Given the description of an element on the screen output the (x, y) to click on. 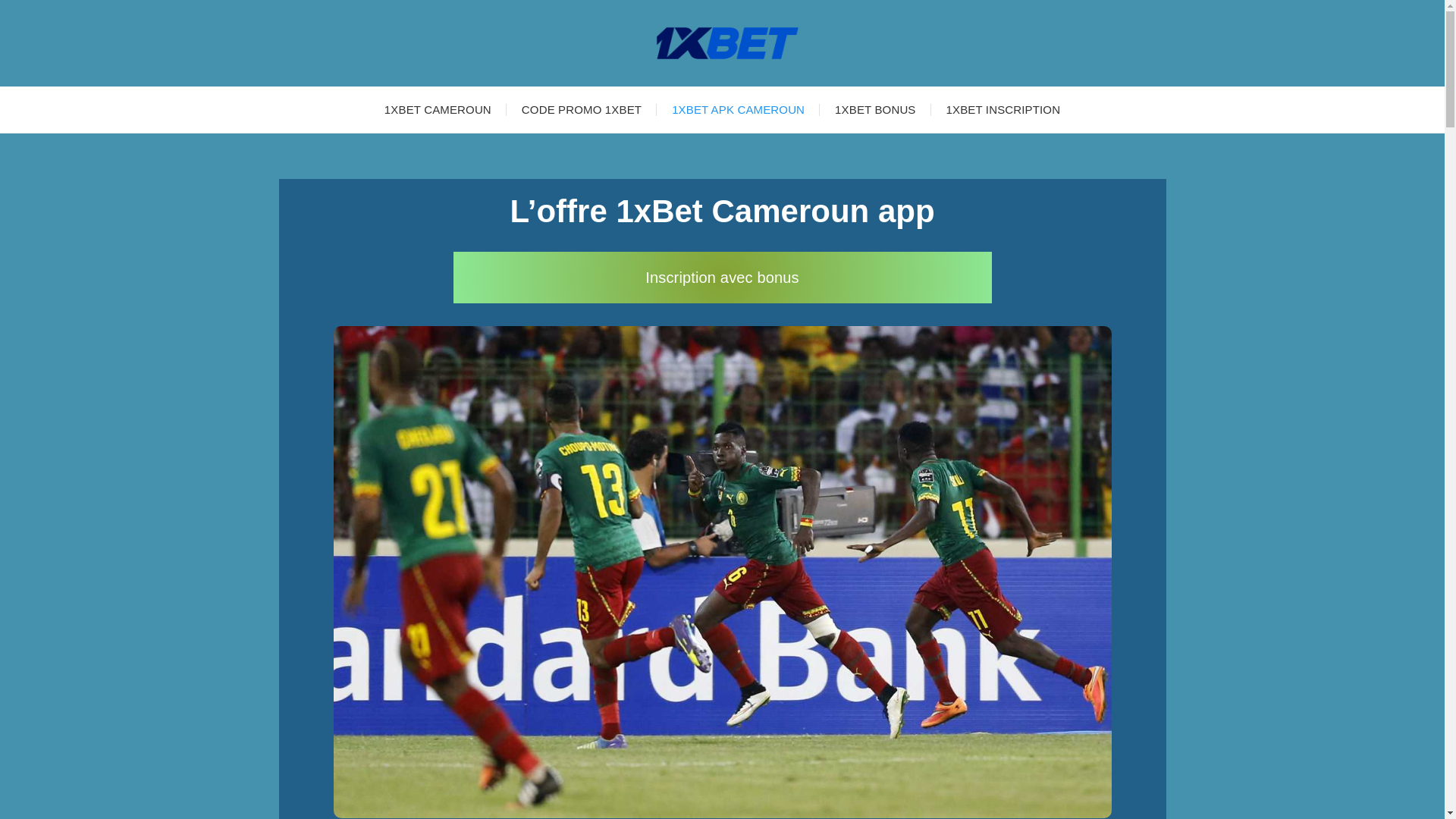
1XBET BONUS Element type: text (874, 109)
1XBET INSCRIPTION Element type: text (1003, 109)
Inscription avec bonus Element type: text (722, 277)
CODE PROMO 1XBET Element type: text (581, 109)
1XBET APK CAMEROUN Element type: text (737, 109)
1XBET CAMEROUN Element type: text (437, 109)
Skip to content Element type: text (40, 9)
